Given the description of an element on the screen output the (x, y) to click on. 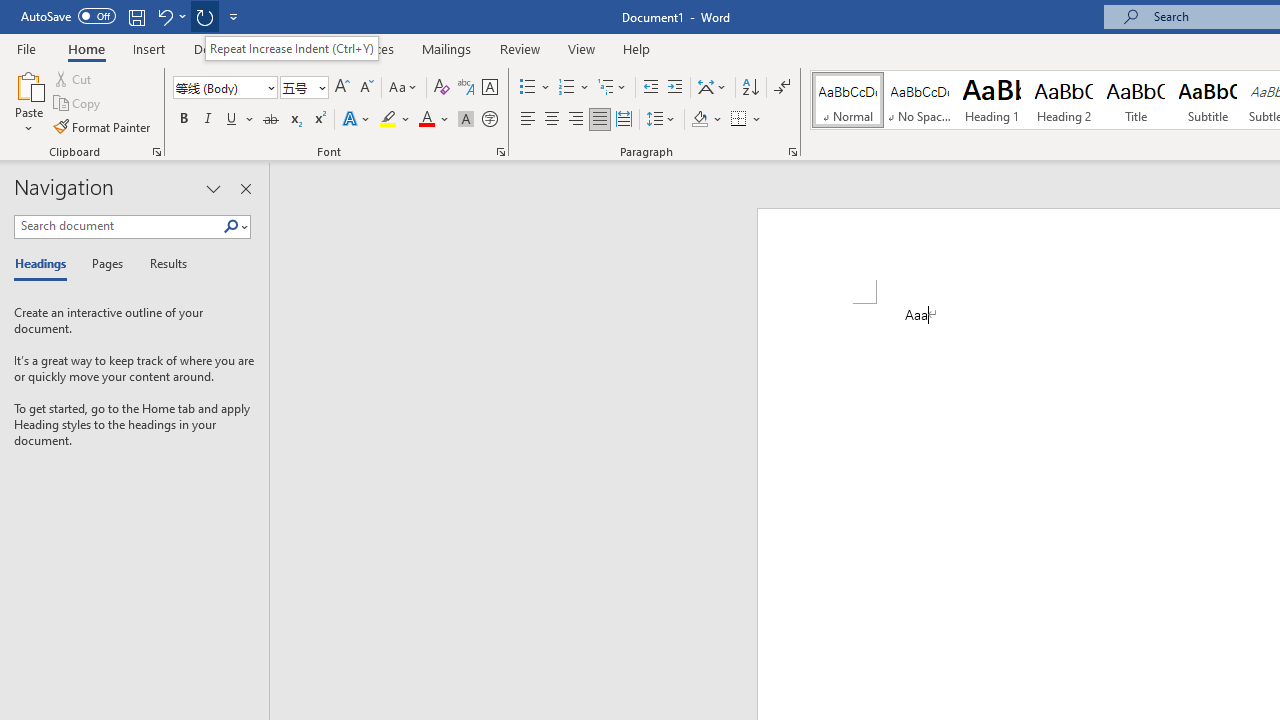
Title (1135, 100)
Undo Increase Indent (164, 15)
